Given the description of an element on the screen output the (x, y) to click on. 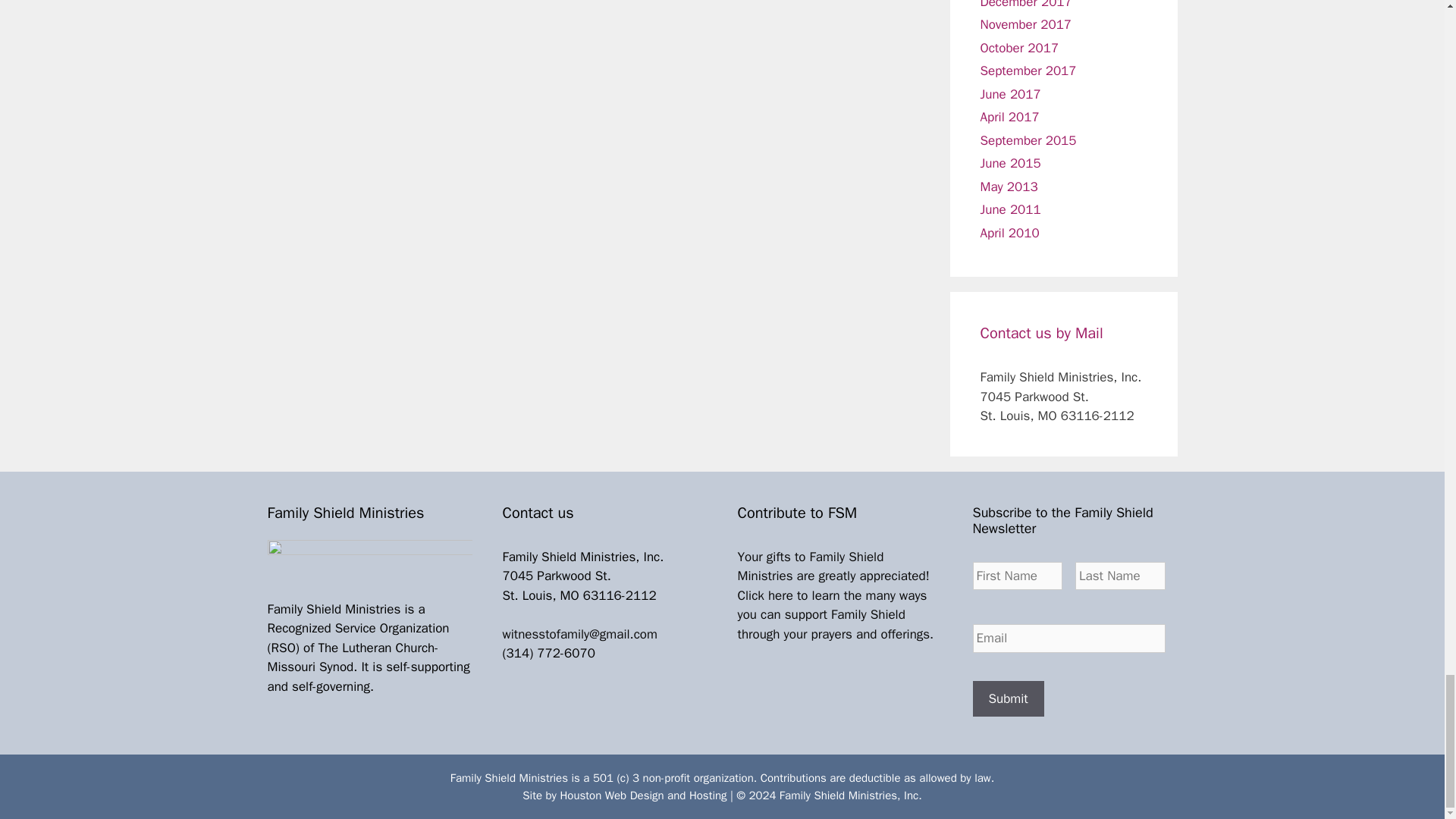
Submit (1007, 698)
